Given the description of an element on the screen output the (x, y) to click on. 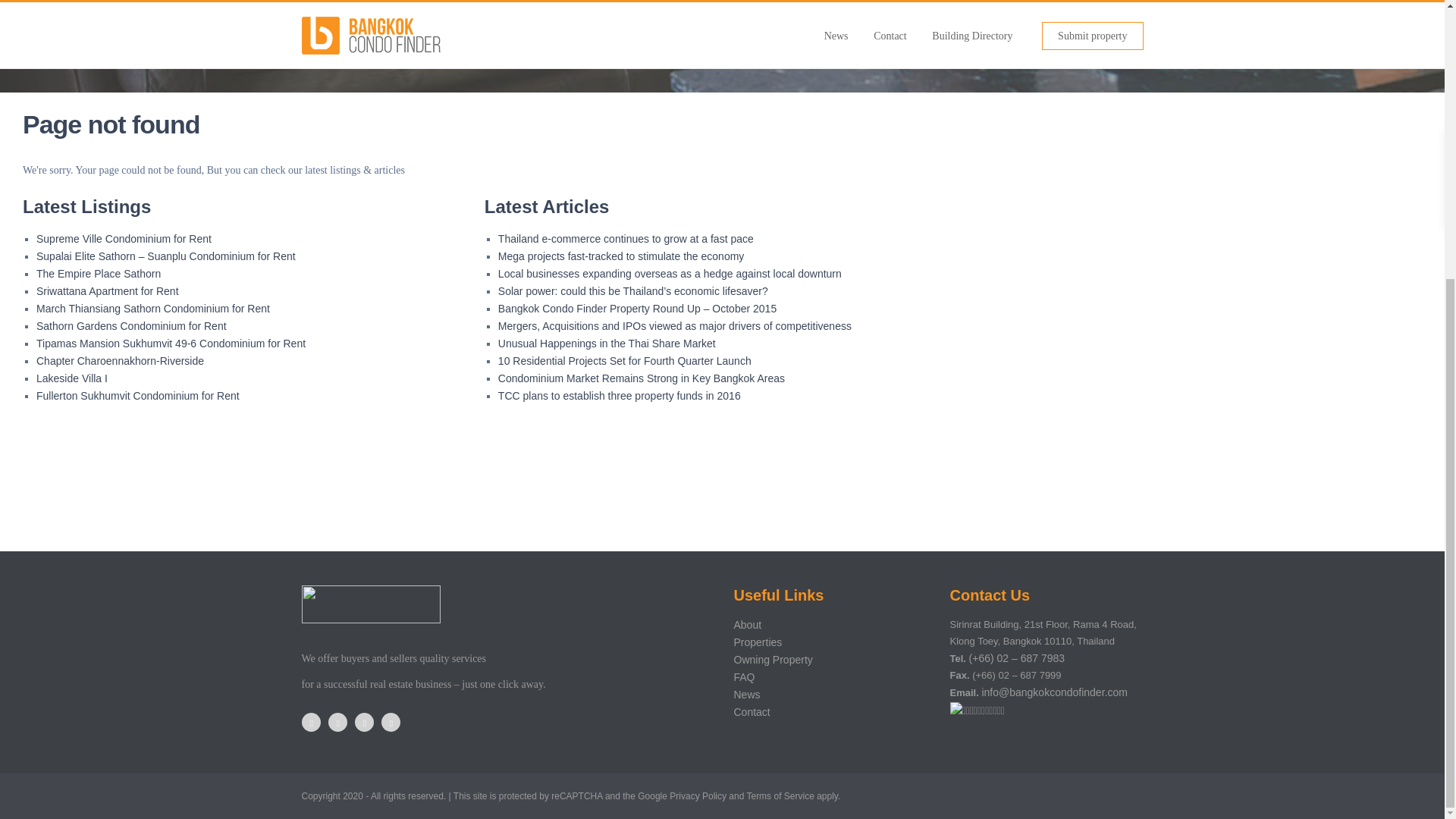
Lakeside Villa I (71, 378)
Sriwattana Apartment for Rent (107, 291)
10 Residential Projects Set for Fourth Quarter Launch (624, 360)
Tipamas Mansion Sukhumvit 49-6 Condominium for Rent (170, 343)
March Thiansiang Sathorn Condominium for Rent (152, 308)
Unusual Happenings in the Thai Share Market (606, 343)
Fullerton Sukhumvit Condominium for Rent (138, 395)
Sathorn Gardens Condominium for Rent (131, 326)
Mega projects fast-tracked to stimulate the economy (620, 256)
